Given the description of an element on the screen output the (x, y) to click on. 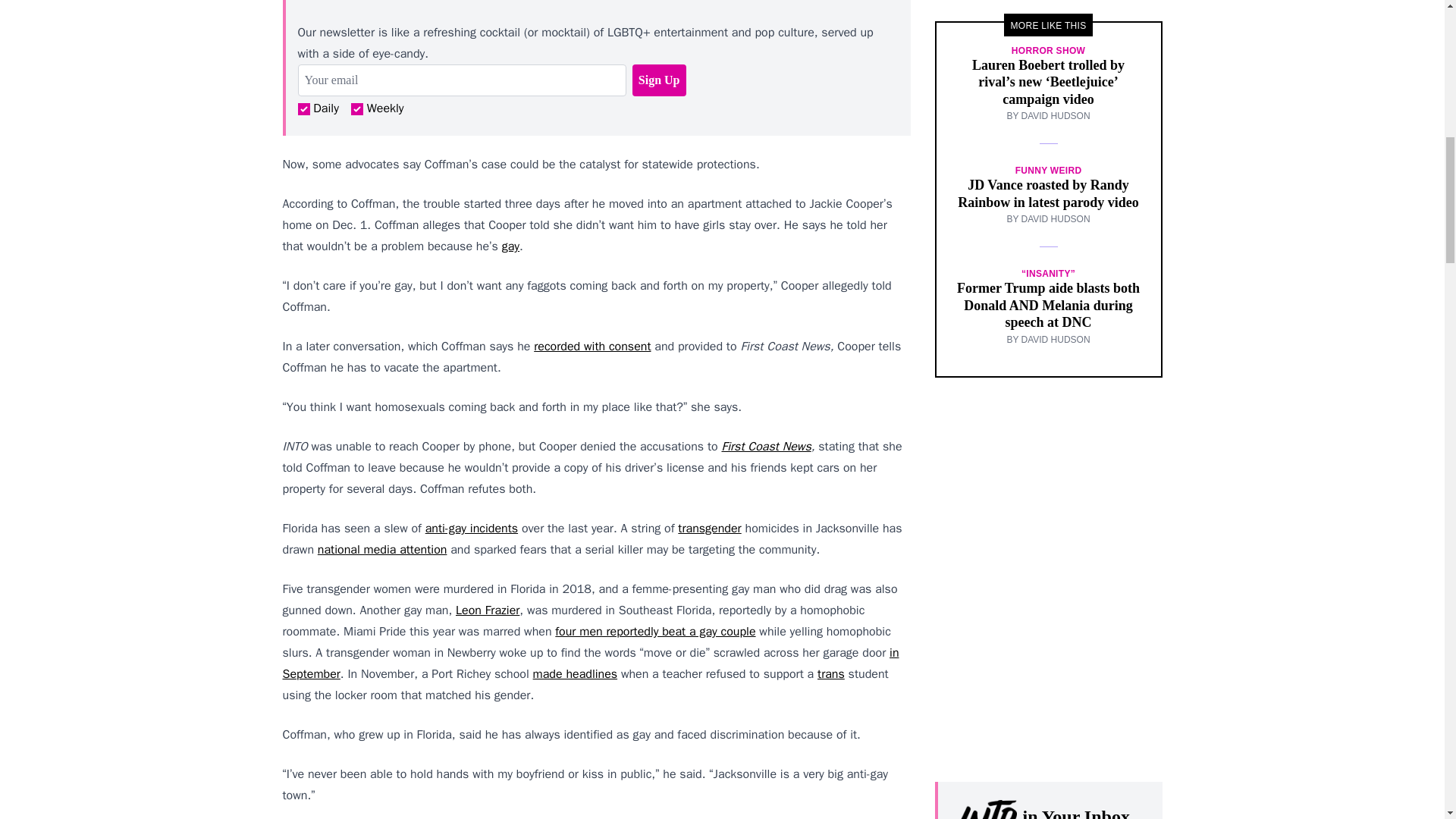
made headlines (574, 673)
1924751 (302, 109)
gay (510, 246)
in September (590, 663)
anti-gay incidents (471, 528)
Sign Up (658, 80)
Leon Frazier (487, 610)
1977099 (356, 109)
recorded with consent (592, 346)
national media attention (381, 549)
